Given the description of an element on the screen output the (x, y) to click on. 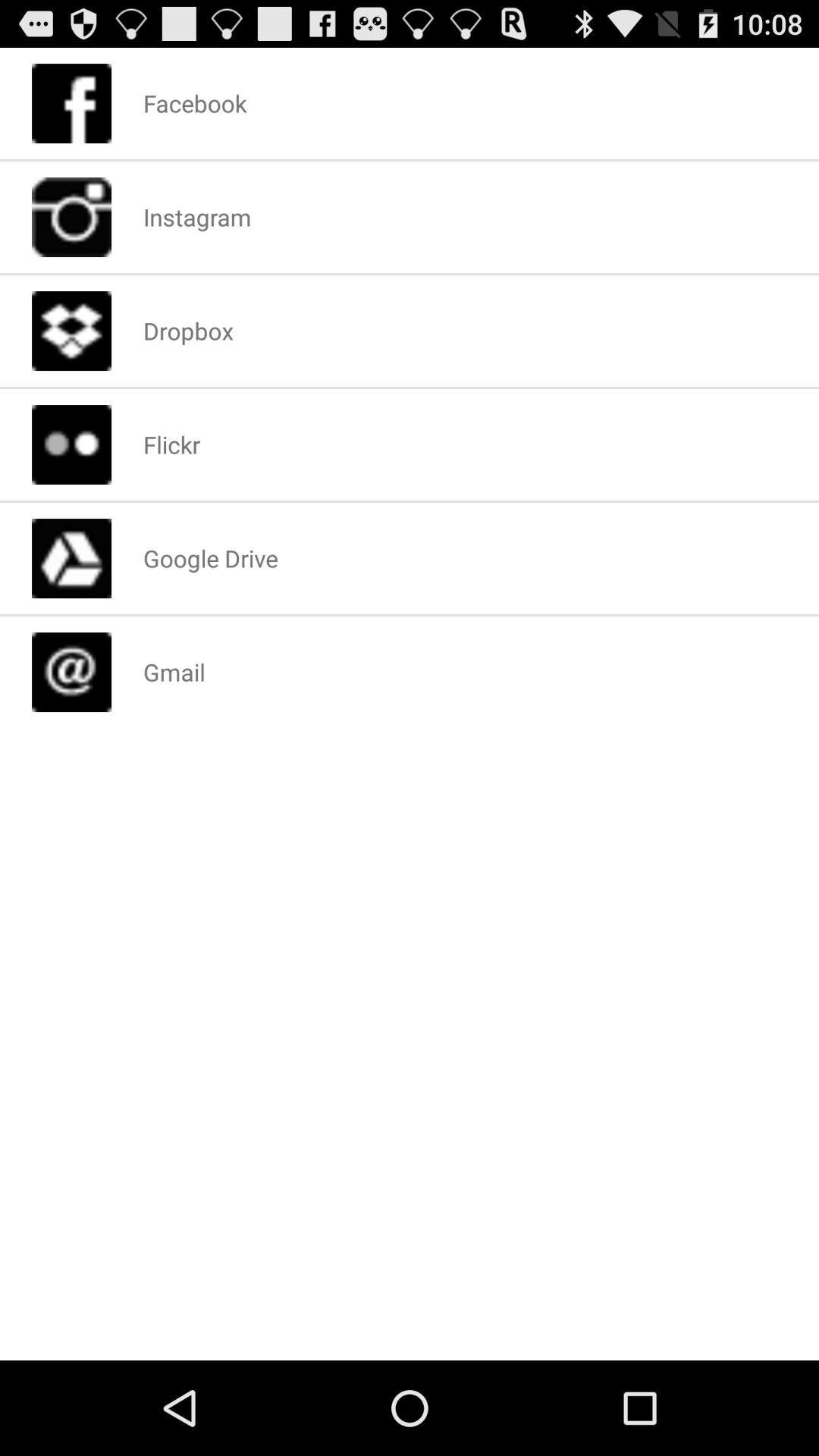
turn off the icon above instagram app (194, 103)
